Given the description of an element on the screen output the (x, y) to click on. 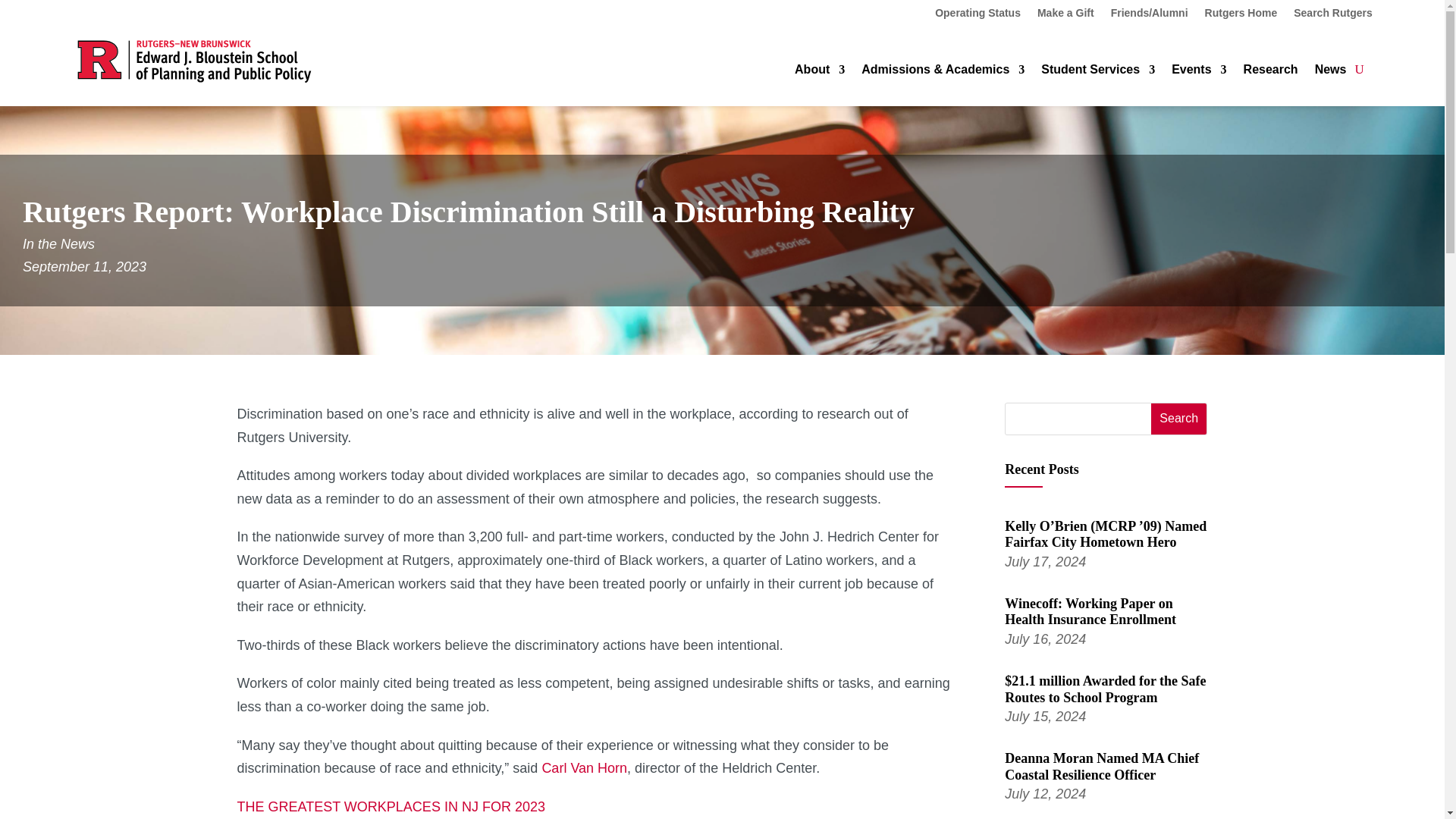
Operating Status (977, 15)
Search (1179, 418)
About (819, 72)
Search (1179, 418)
Rutgers Home (1241, 15)
Make a Gift (1065, 15)
Search Rutgers (1332, 15)
